Given the description of an element on the screen output the (x, y) to click on. 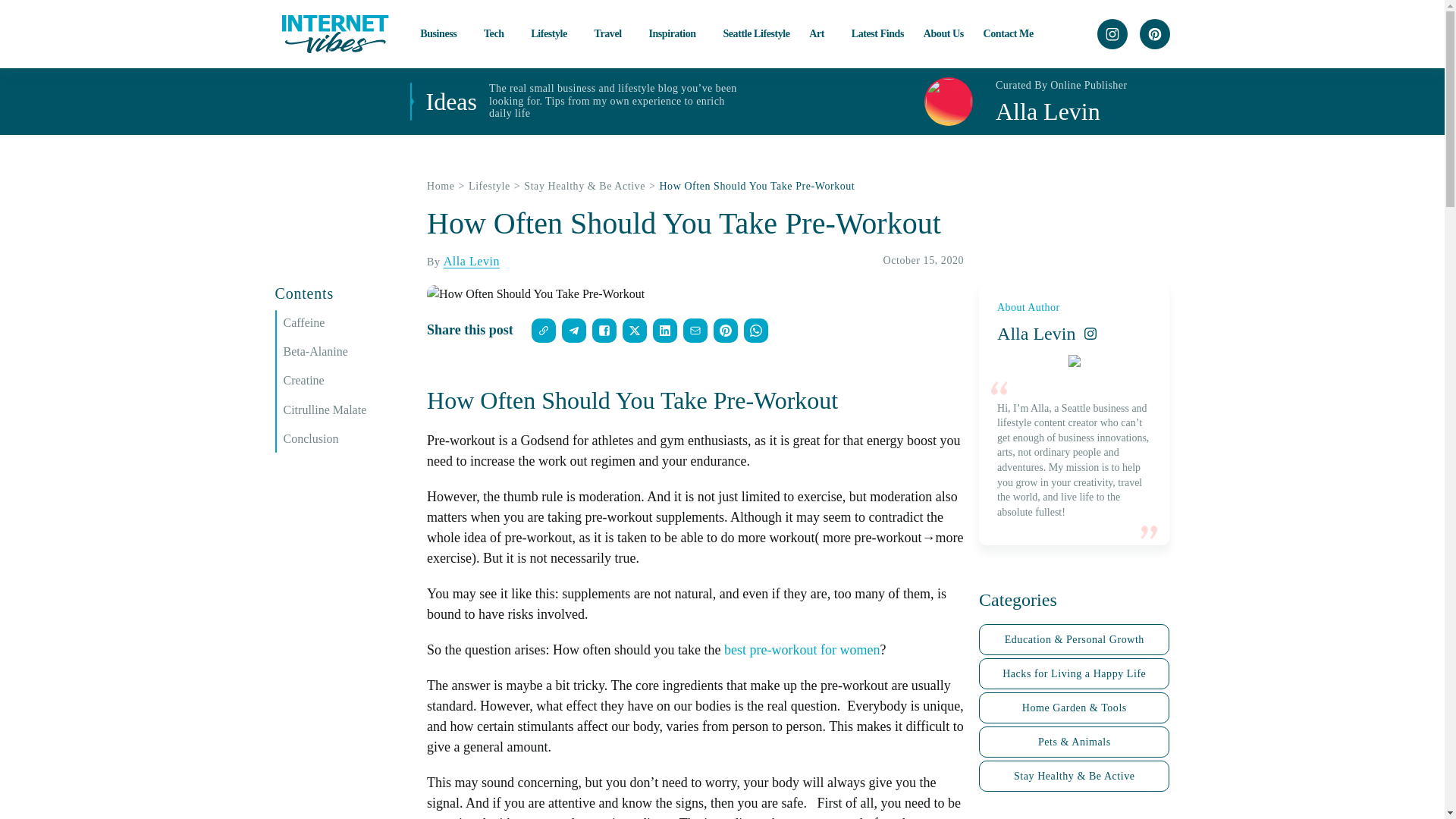
Inspiration (675, 33)
Conclusion (347, 438)
Travel (611, 33)
Business (442, 33)
Beta-Alanine (347, 351)
Caffeine (347, 322)
Citrulline Malate (347, 410)
Lifestyle (553, 33)
Tech (497, 33)
Creatine (347, 380)
